Given the description of an element on the screen output the (x, y) to click on. 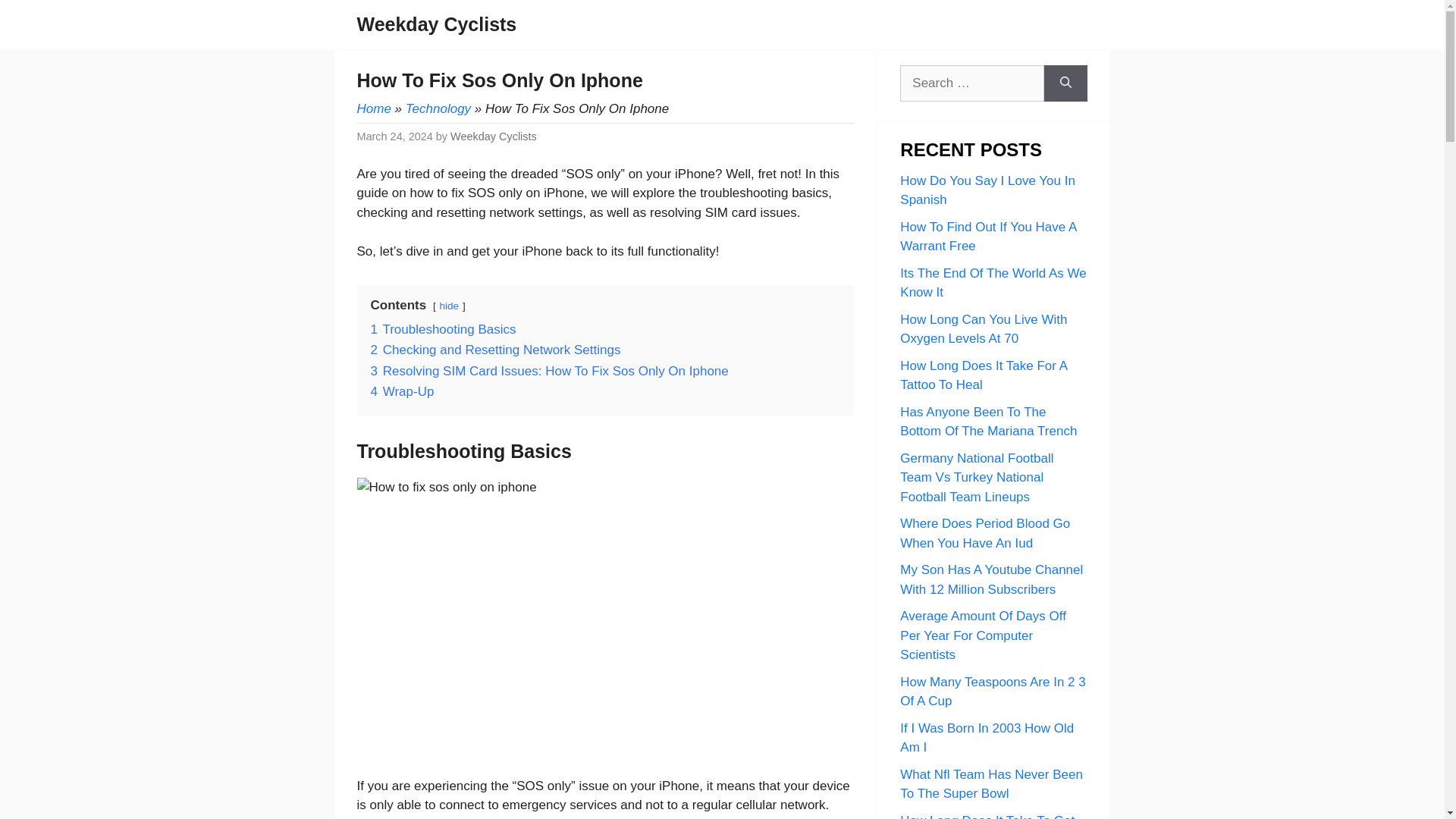
Where Does Period Blood Go When You Have An Iud (984, 533)
Technology (438, 108)
How Do You Say I Love You In Spanish (987, 189)
How Long Does It Take For A Tattoo To Heal (983, 374)
How To Find Out If You Have A Warrant Free (987, 236)
3 Resolving SIM Card Issues: How To Fix Sos Only On Iphone (548, 370)
Its The End Of The World As We Know It (992, 282)
Has Anyone Been To The Bottom Of The Mariana Trench (988, 421)
4 Wrap-Up (401, 391)
Weekday Cyclists (436, 24)
1 Troubleshooting Basics (442, 329)
Average Amount Of Days Off Per Year For Computer Scientists (982, 635)
How Long Can You Live With Oxygen Levels At 70 (983, 329)
Home (373, 108)
